Given the description of an element on the screen output the (x, y) to click on. 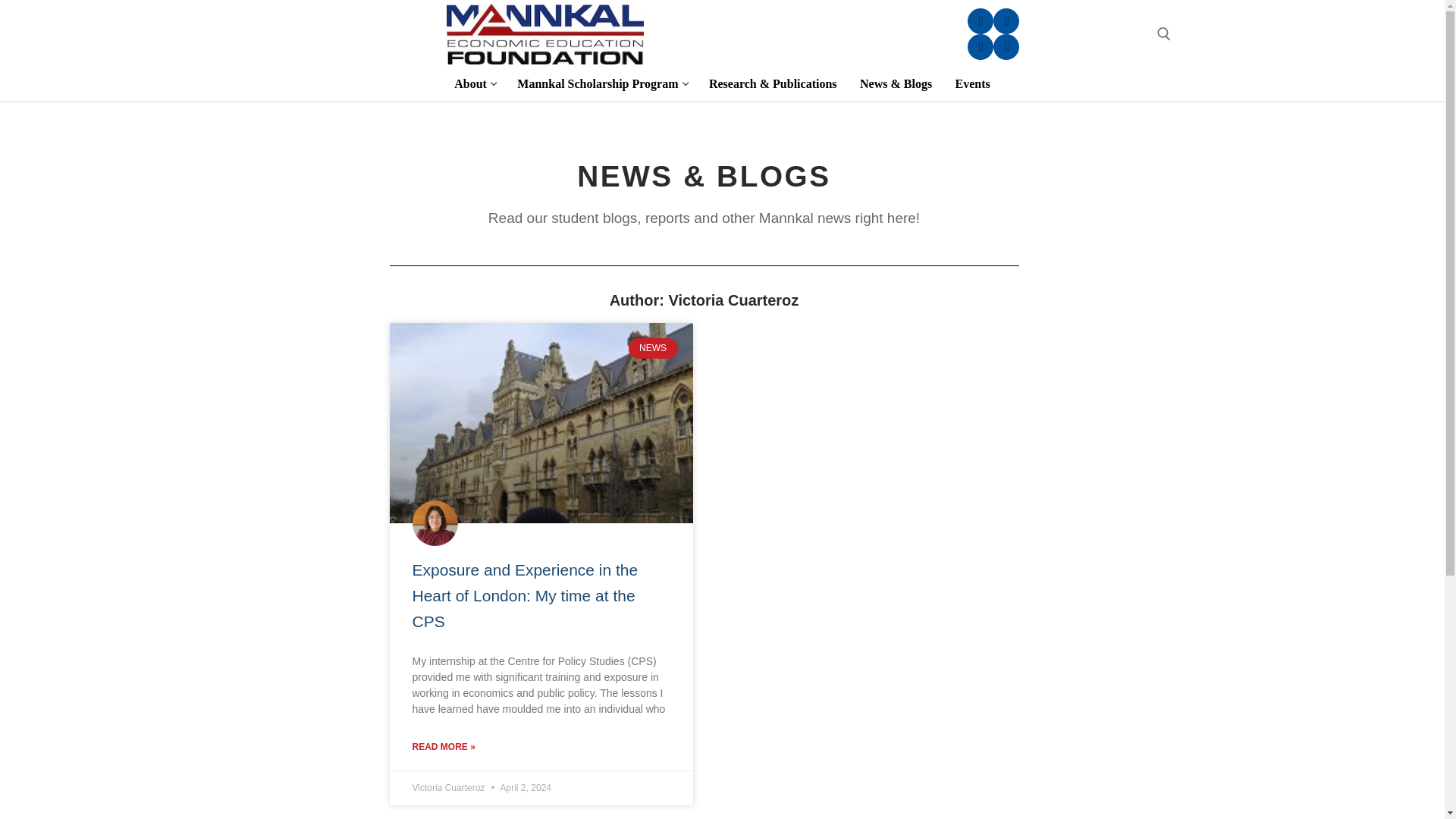
Facebook (600, 83)
Events (1006, 21)
Youtube (972, 83)
Instagram (980, 47)
LinkedIn (980, 21)
